Given the description of an element on the screen output the (x, y) to click on. 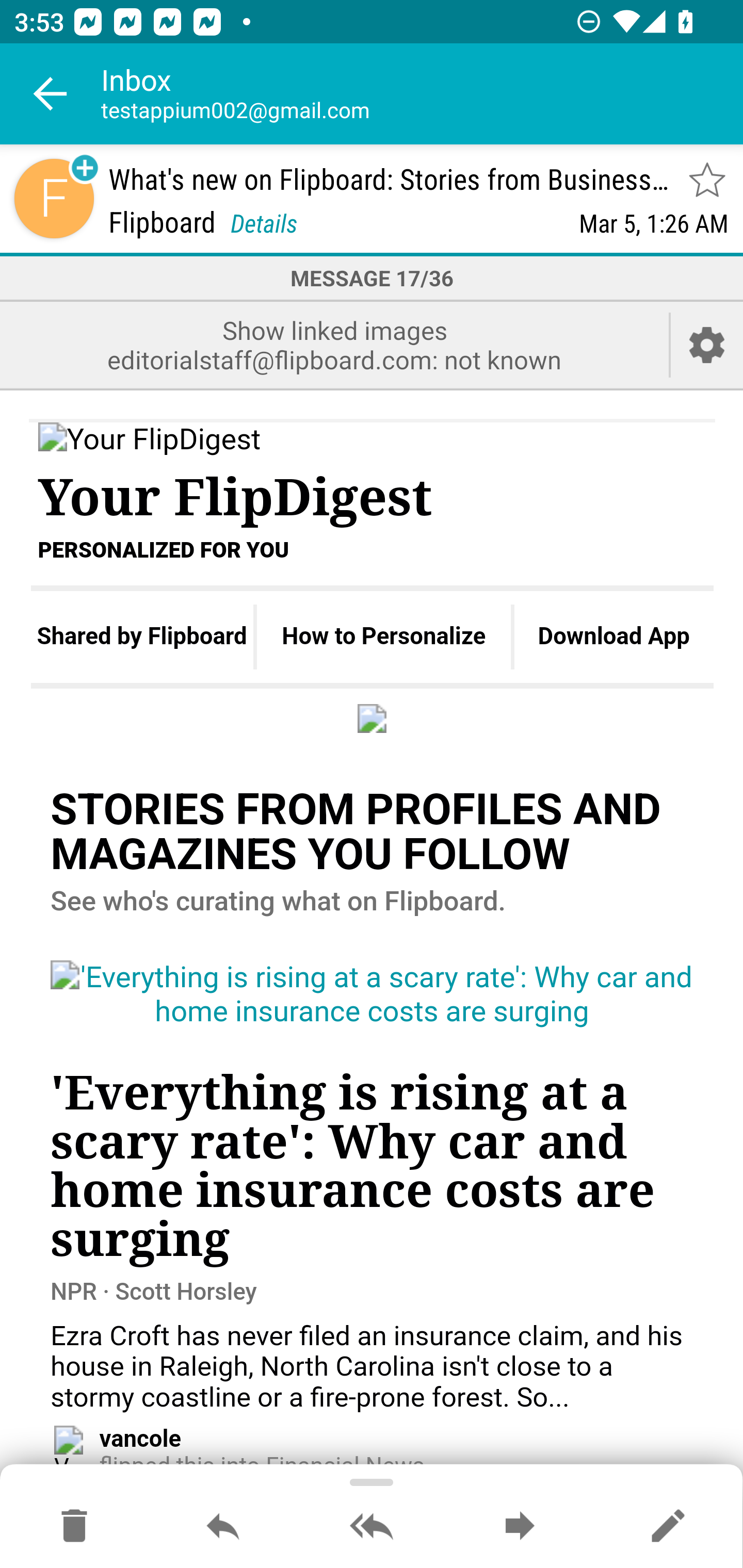
Navigate up (50, 93)
Inbox testappium002@gmail.com (422, 93)
Sender contact button (53, 198)
Account setup (706, 344)
Shared by Flipboard (141, 636)
How to Personalize (384, 636)
Download App (613, 636)
data: (372, 717)
Move to Deleted (74, 1527)
Reply (222, 1527)
Reply all (371, 1527)
Forward (519, 1527)
Reply as new (667, 1527)
